Given the description of an element on the screen output the (x, y) to click on. 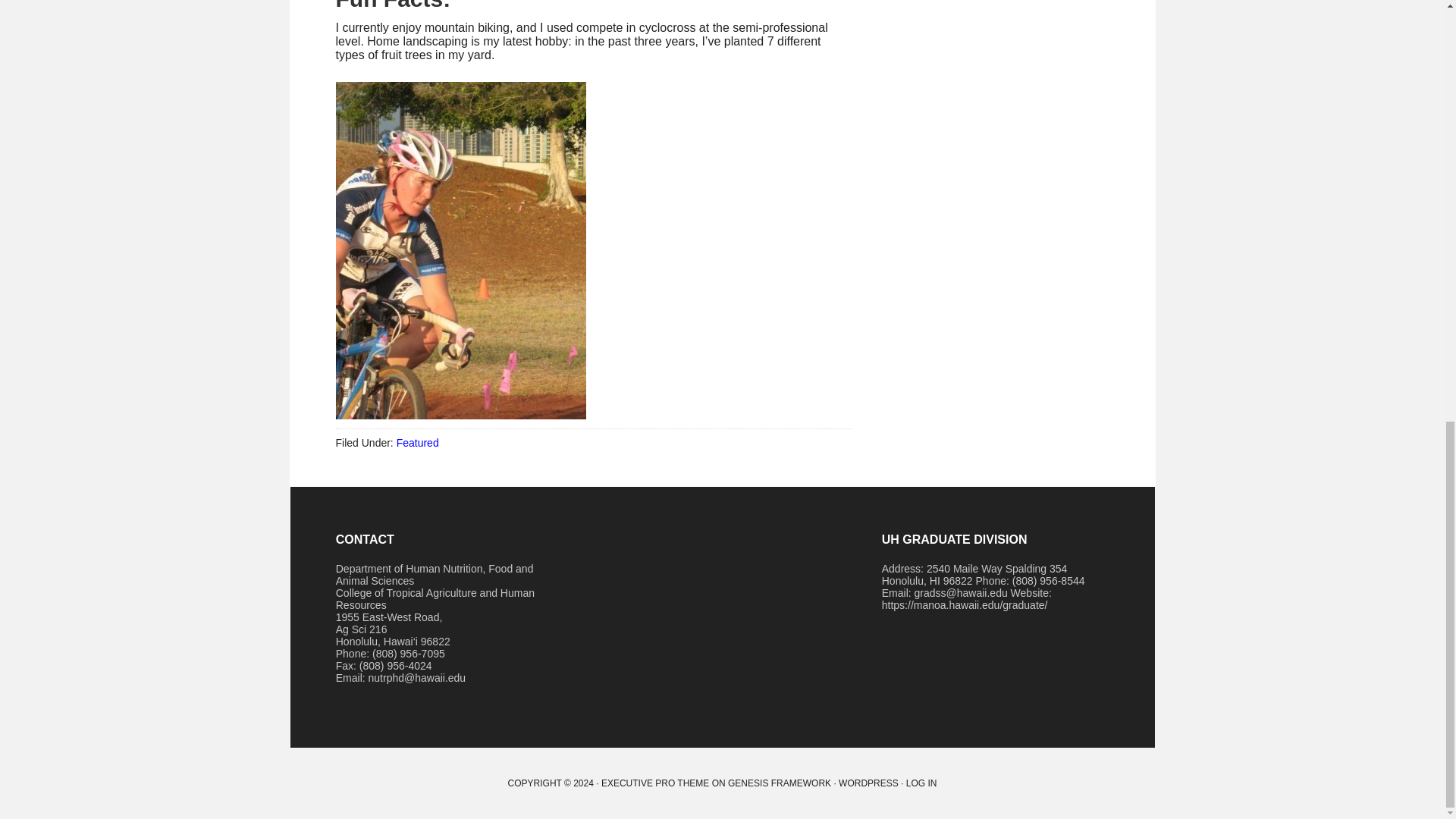
Featured (417, 442)
